Given the description of an element on the screen output the (x, y) to click on. 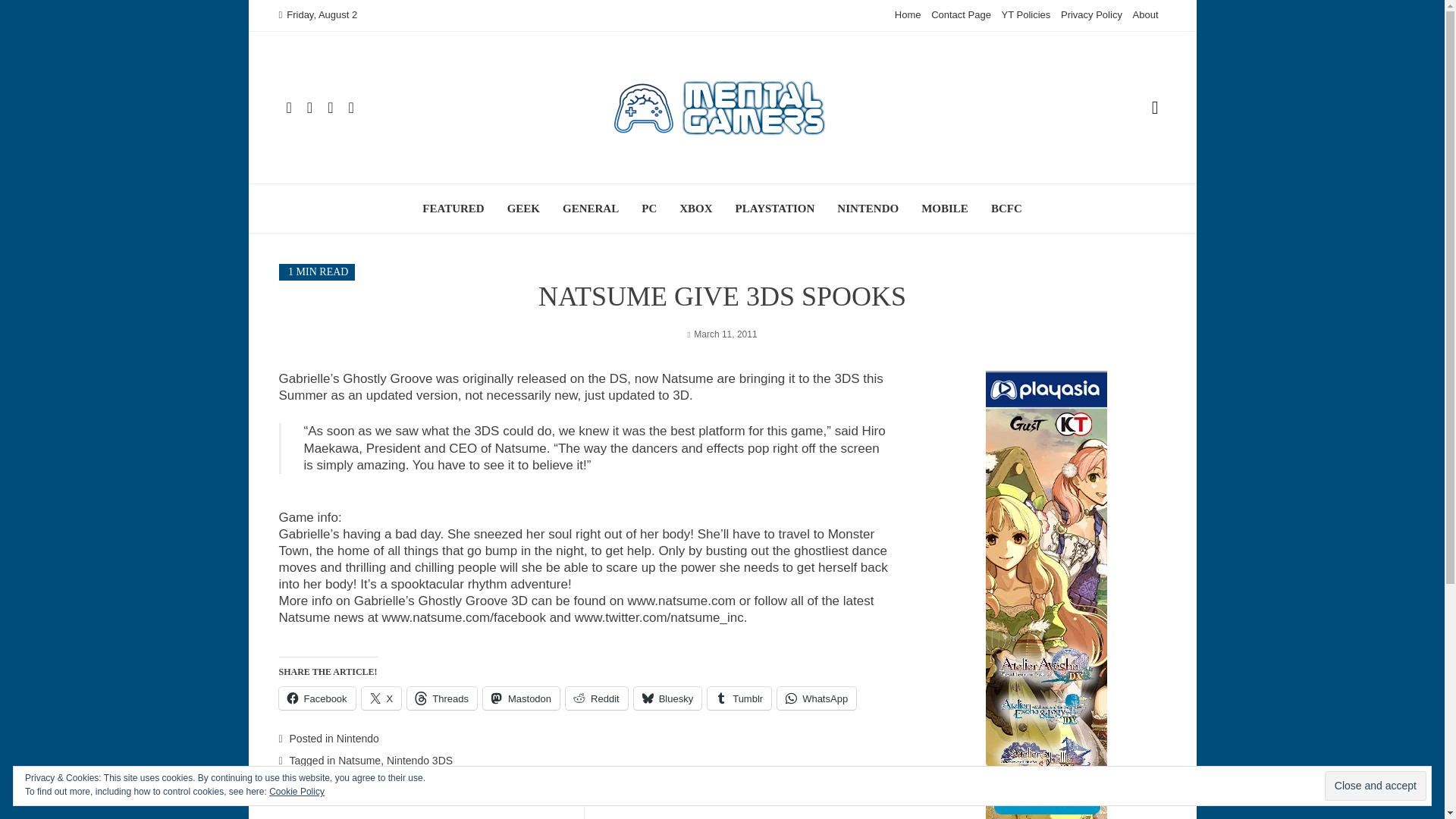
Nintendo 3DS (419, 760)
Bluesky (667, 698)
Twitter (659, 617)
Click to share on WhatsApp (816, 698)
Official website (681, 600)
www.natsume.com (681, 600)
Click to share on Reddit (596, 698)
XBOX (695, 208)
Facebook (431, 816)
FEATURED (317, 698)
GEEK (452, 208)
About (523, 208)
WhatsApp (1145, 14)
Click to share on Bluesky (816, 698)
